Given the description of an element on the screen output the (x, y) to click on. 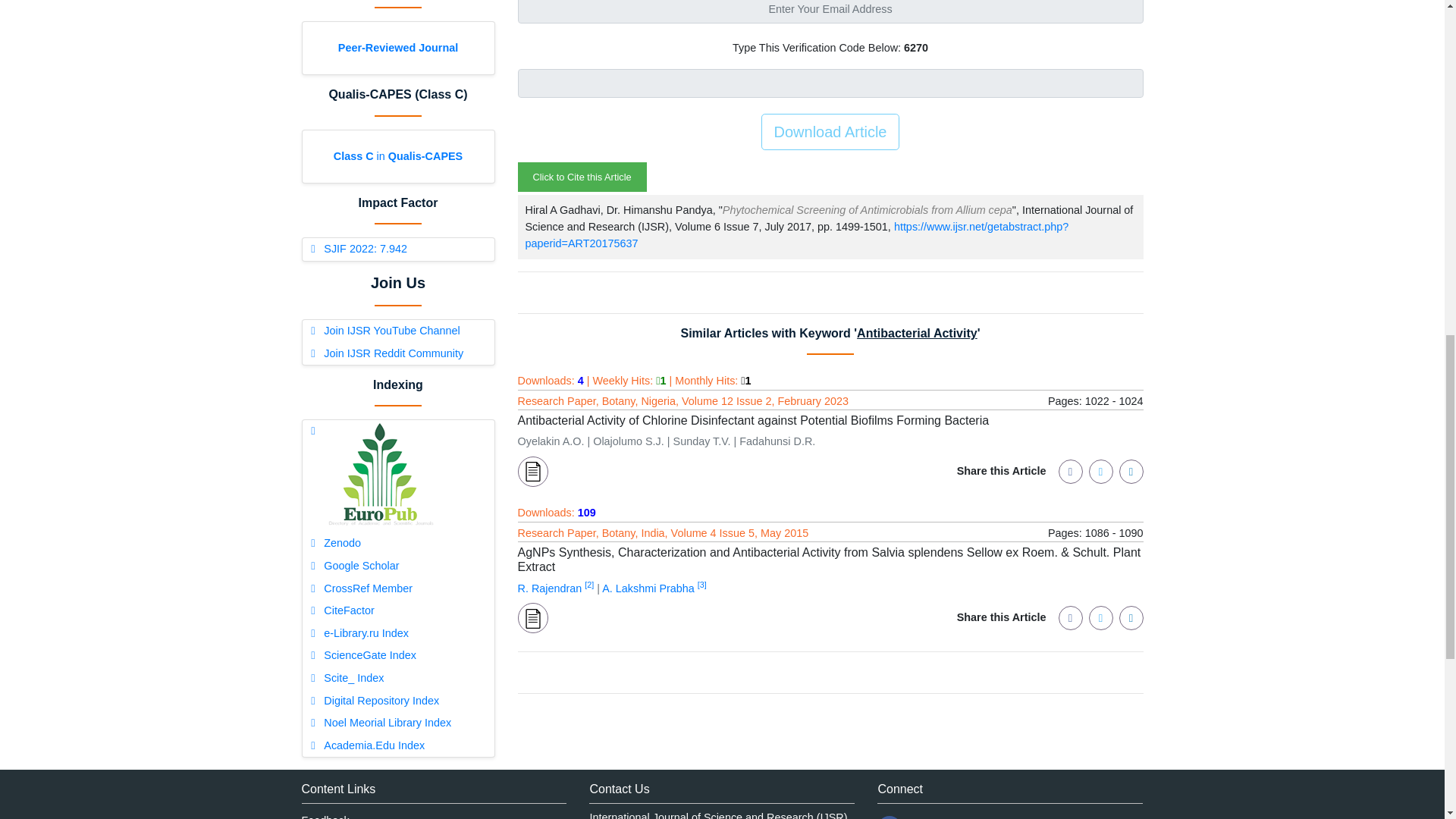
Download Article (830, 131)
